Given the description of an element on the screen output the (x, y) to click on. 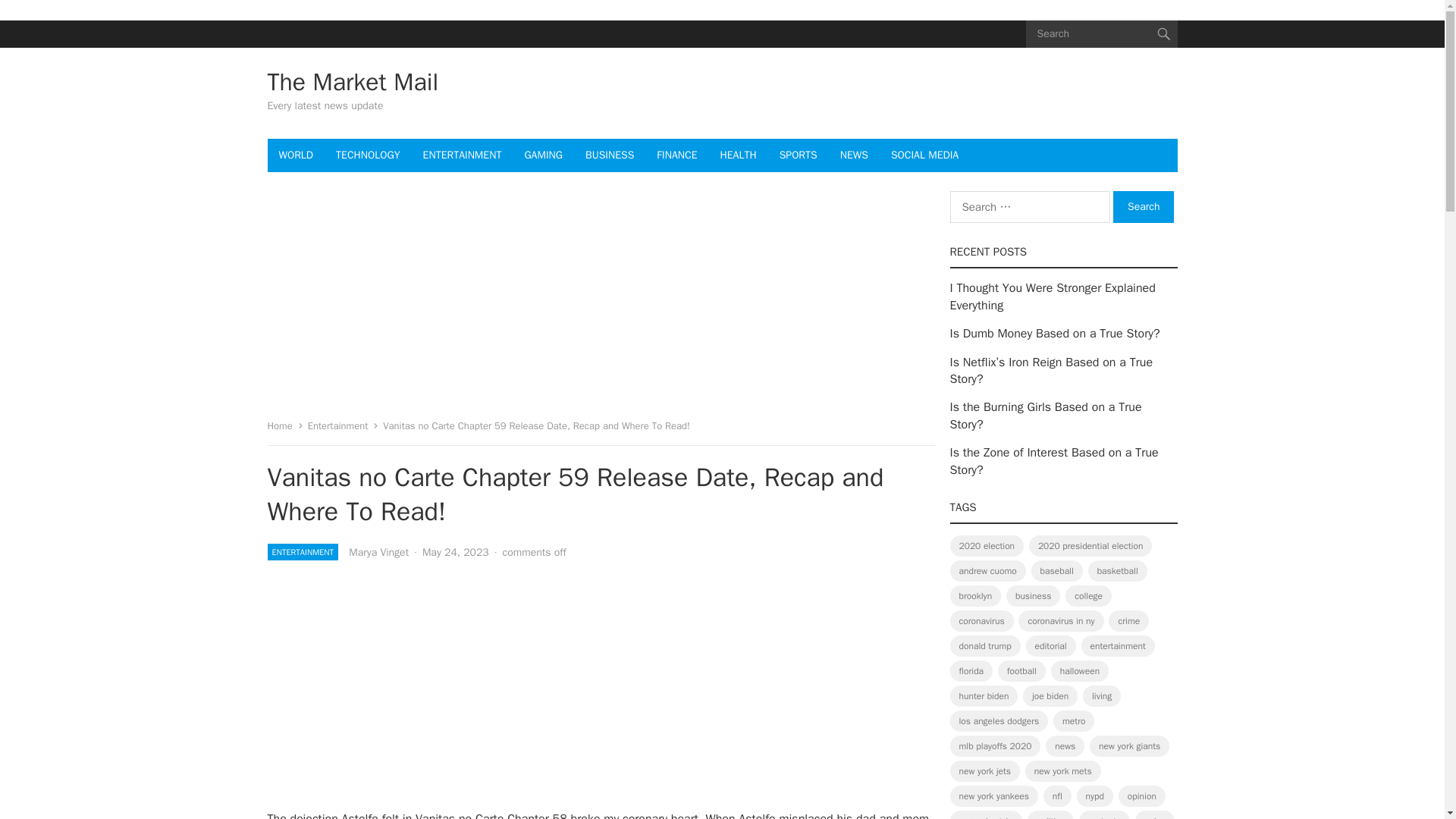
The Market Mail (352, 82)
SOCIAL MEDIA (924, 154)
FINANCE (676, 154)
Search (1143, 206)
I Thought You Were Stronger Explained Everything (1051, 296)
GAMING (542, 154)
ENTERTAINMENT (462, 154)
NEWS (853, 154)
SPORTS (798, 154)
Search (1143, 206)
TECHNOLOGY (367, 154)
ENTERTAINMENT (301, 551)
Posts by Marya Vinget (379, 552)
Marya Vinget (379, 552)
